Given the description of an element on the screen output the (x, y) to click on. 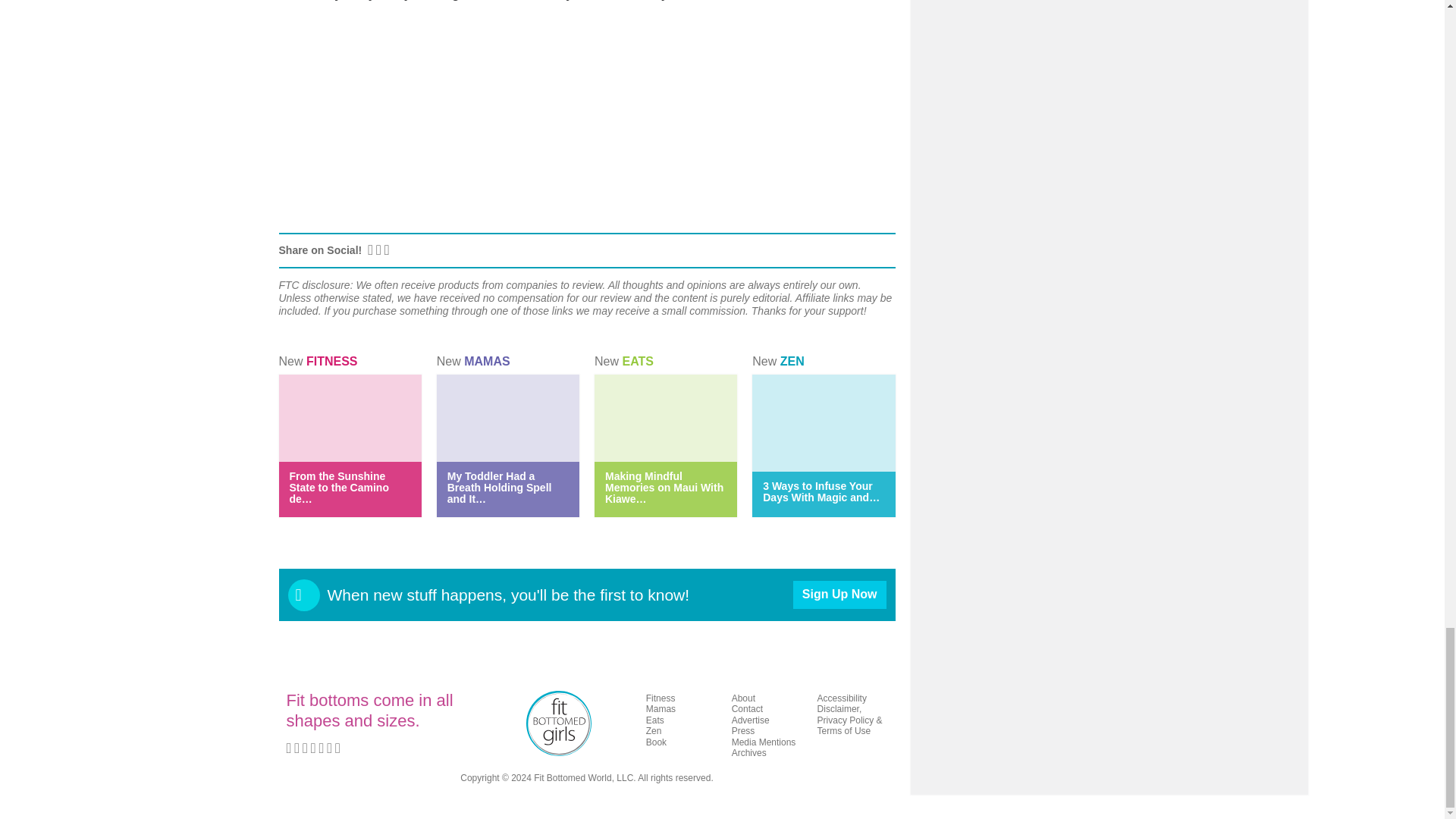
My Toddler Had a Breath Holding Spell and It Was Scary AF (498, 487)
From the Sunshine State to the Camino de Santiago (338, 487)
Making Mindful Memories on Maui With Kiawe Outdoor (664, 487)
3 Ways to Infuse Your Days With Magic and Meaning (820, 491)
